Given the description of an element on the screen output the (x, y) to click on. 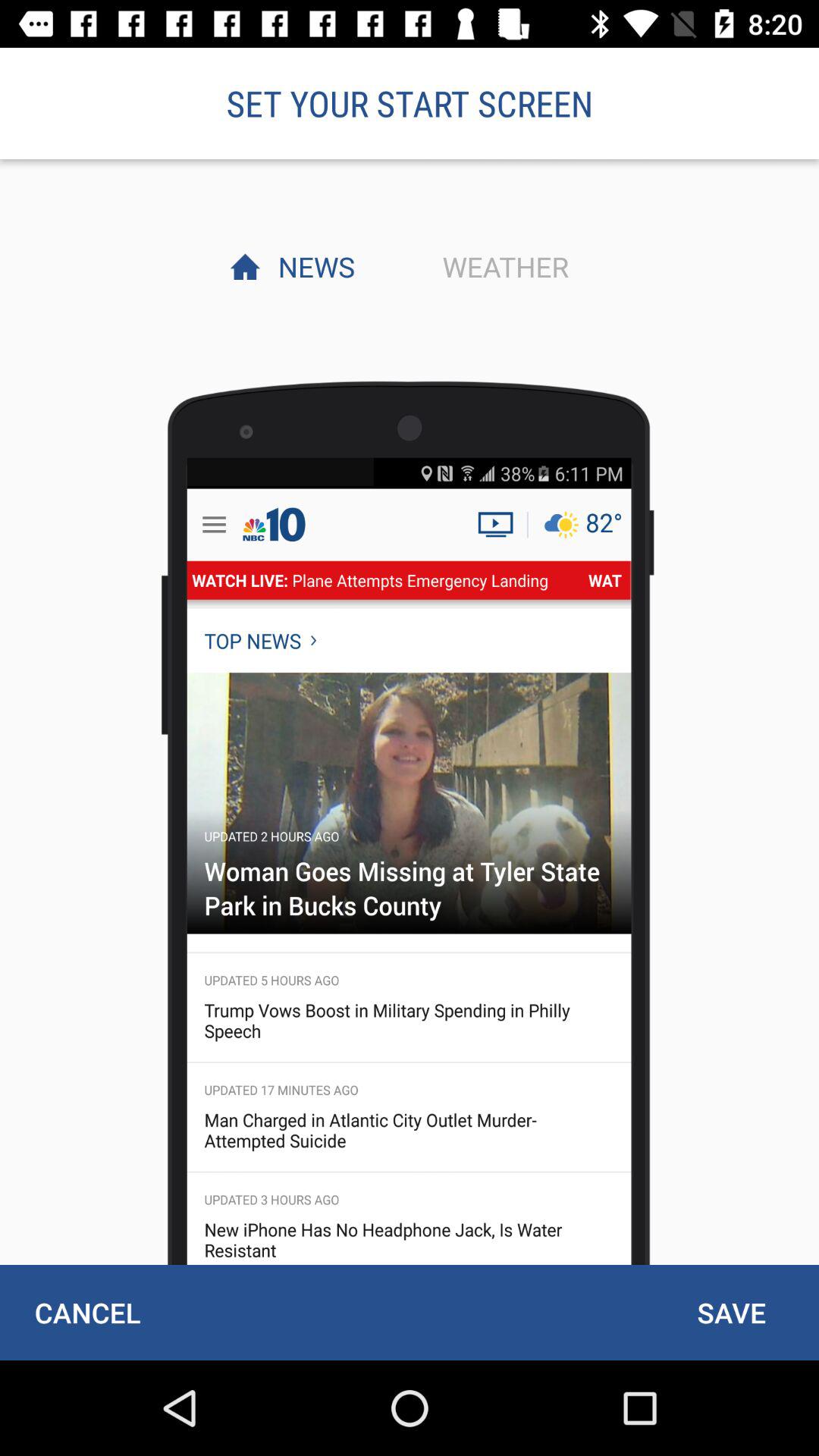
launch item to the left of the weather icon (312, 266)
